Given the description of an element on the screen output the (x, y) to click on. 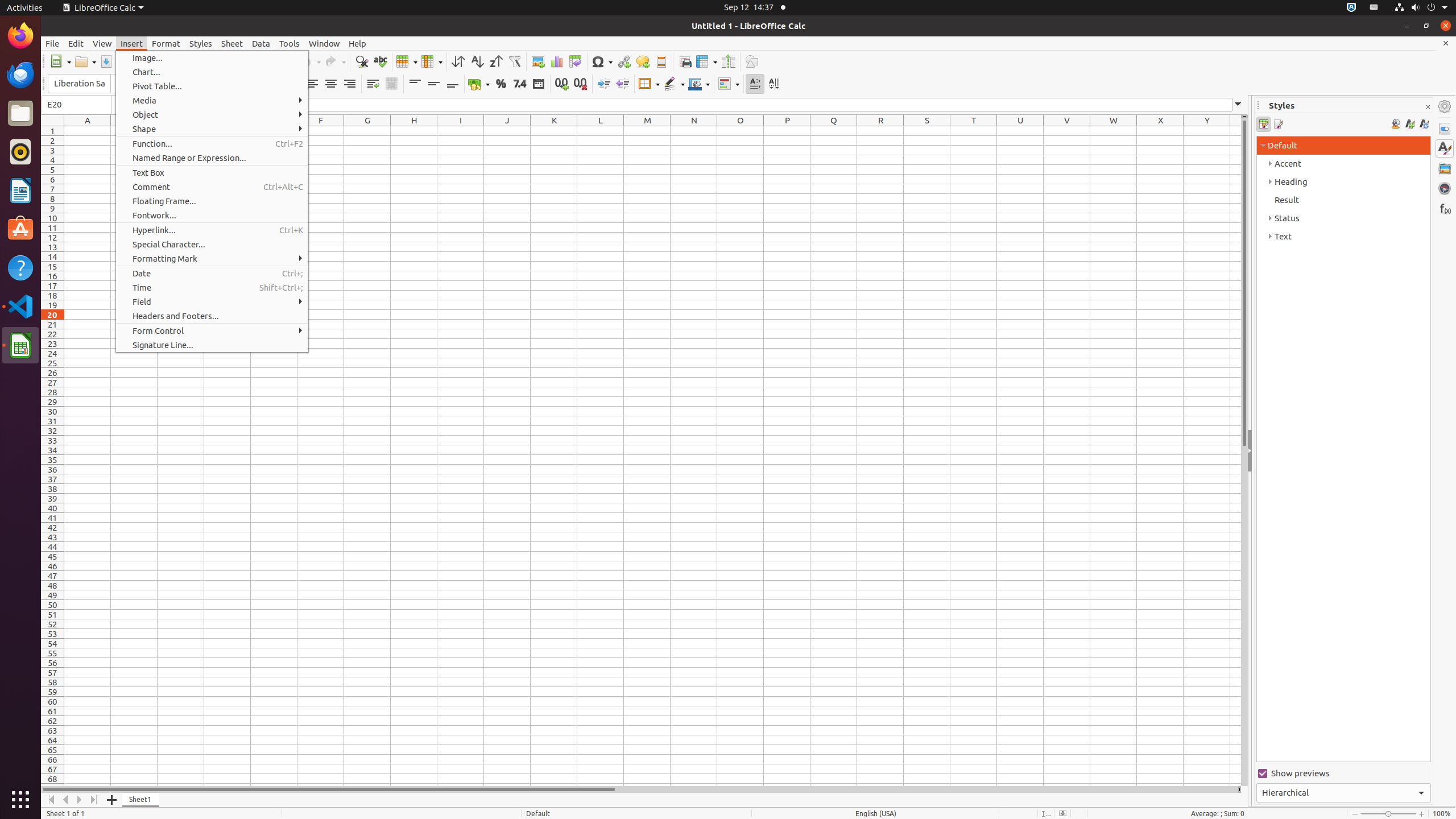
Currency Element type: push-button (478, 83)
Number Element type: push-button (519, 83)
Vertical scroll bar Element type: scroll-bar (1244, 451)
Sort Descending Element type: push-button (495, 61)
Named Range or Expression... Element type: menu-item (212, 157)
